Given the description of an element on the screen output the (x, y) to click on. 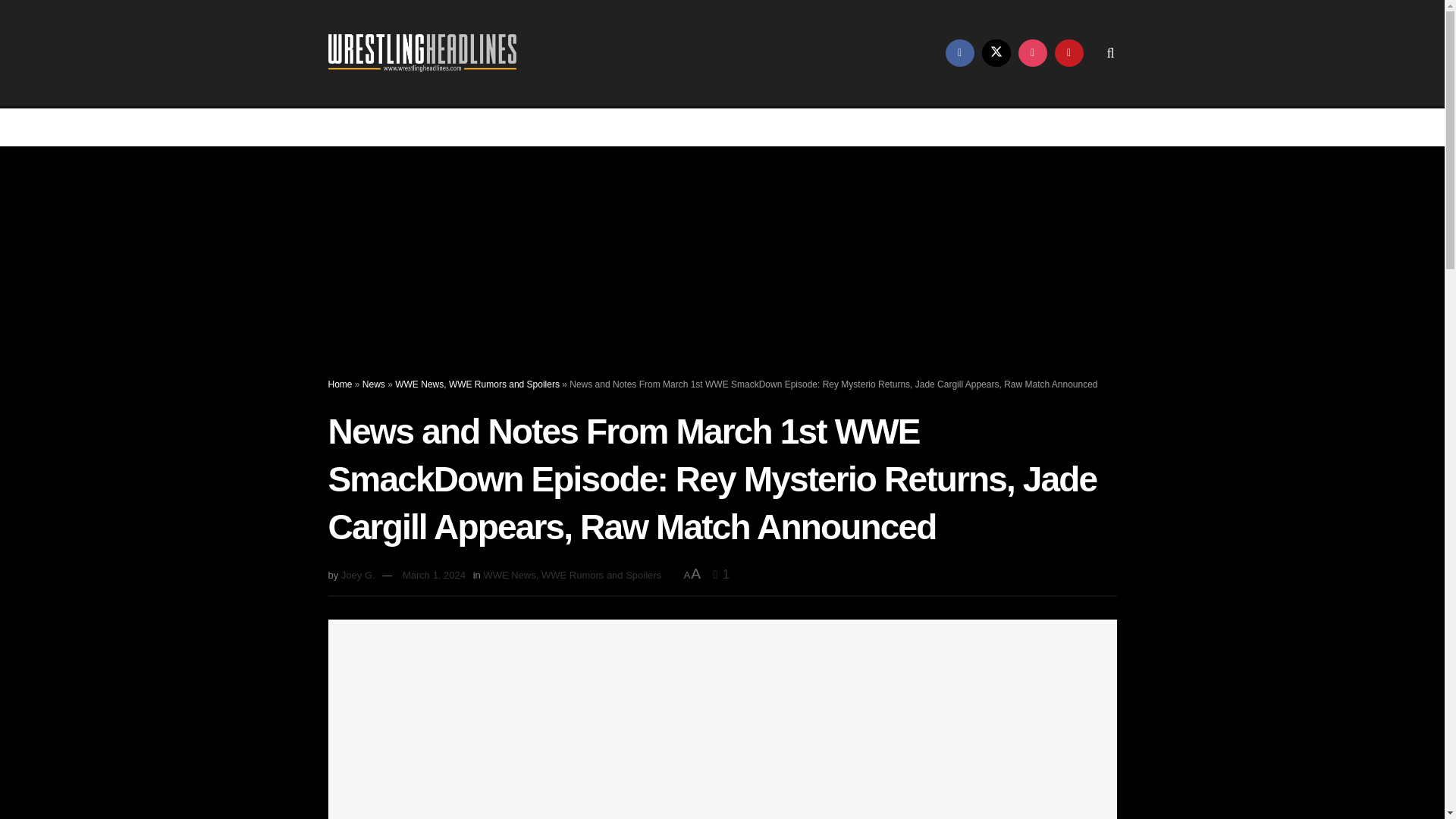
RESULTS (695, 127)
NEWS (539, 127)
COLUMNS (863, 127)
HOME (392, 127)
